Given the description of an element on the screen output the (x, y) to click on. 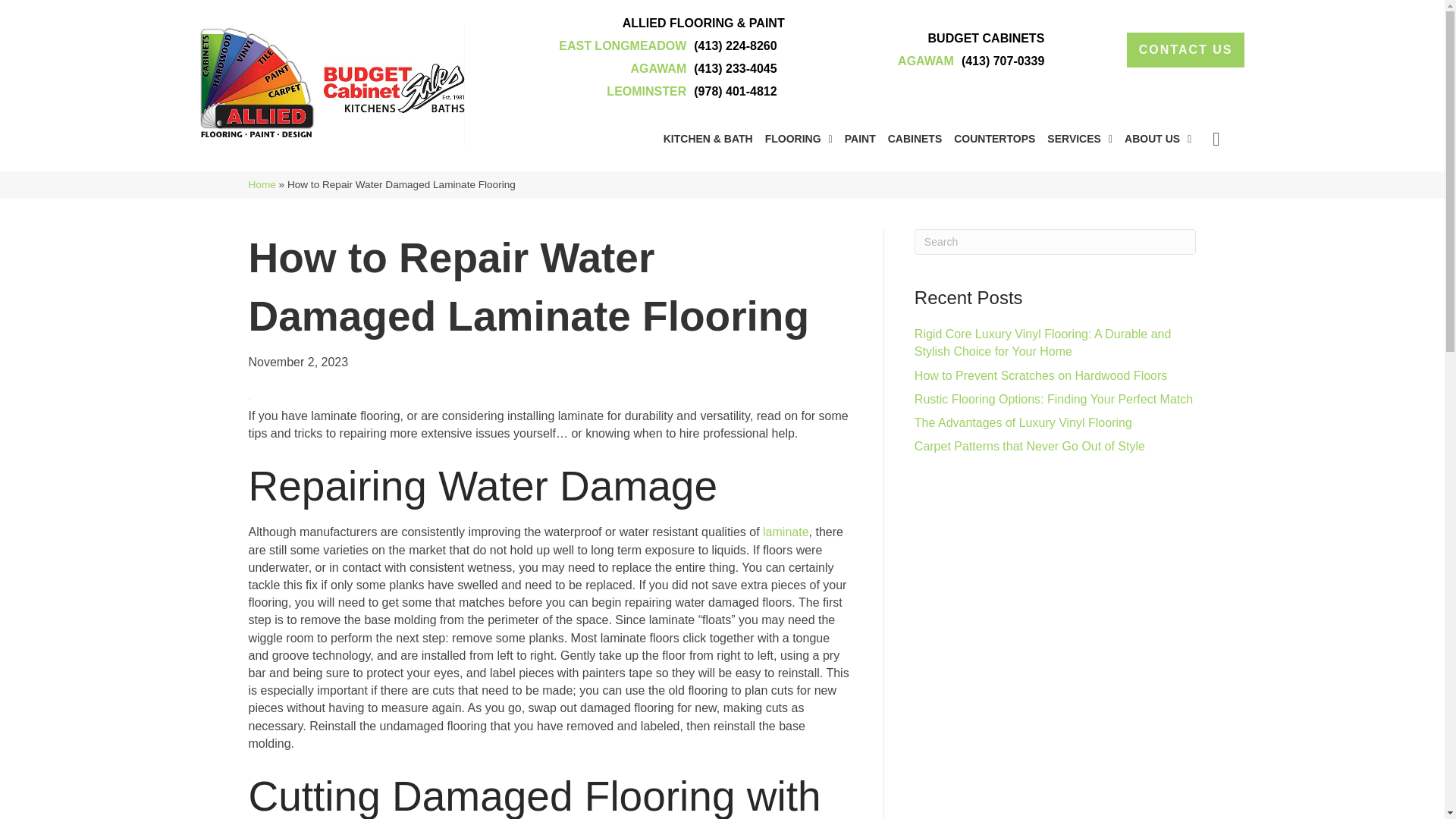
Type and press Enter to search. (1055, 241)
FLOORING (798, 138)
CONTACT US (1185, 49)
alliedflooringandpaint (332, 85)
